Given the description of an element on the screen output the (x, y) to click on. 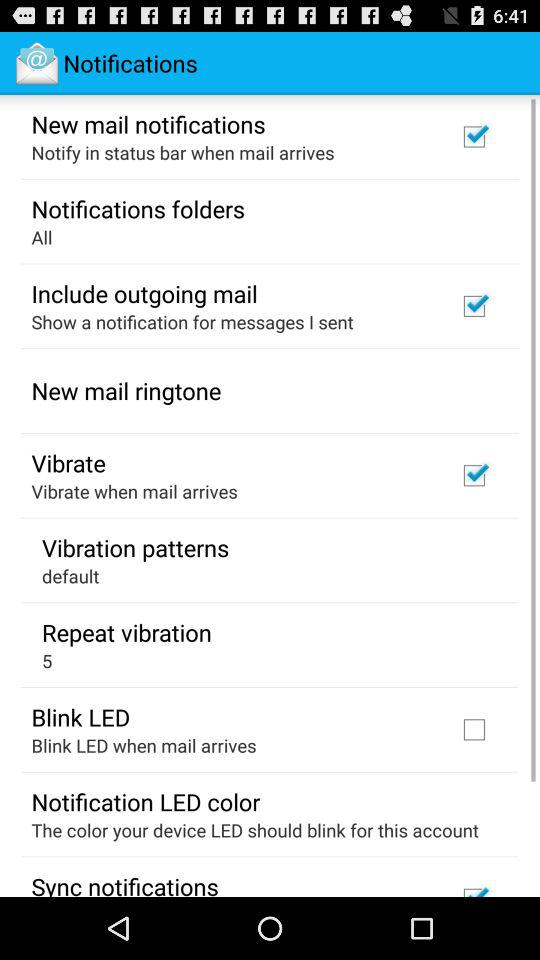
jump to the notifications folders icon (137, 208)
